Given the description of an element on the screen output the (x, y) to click on. 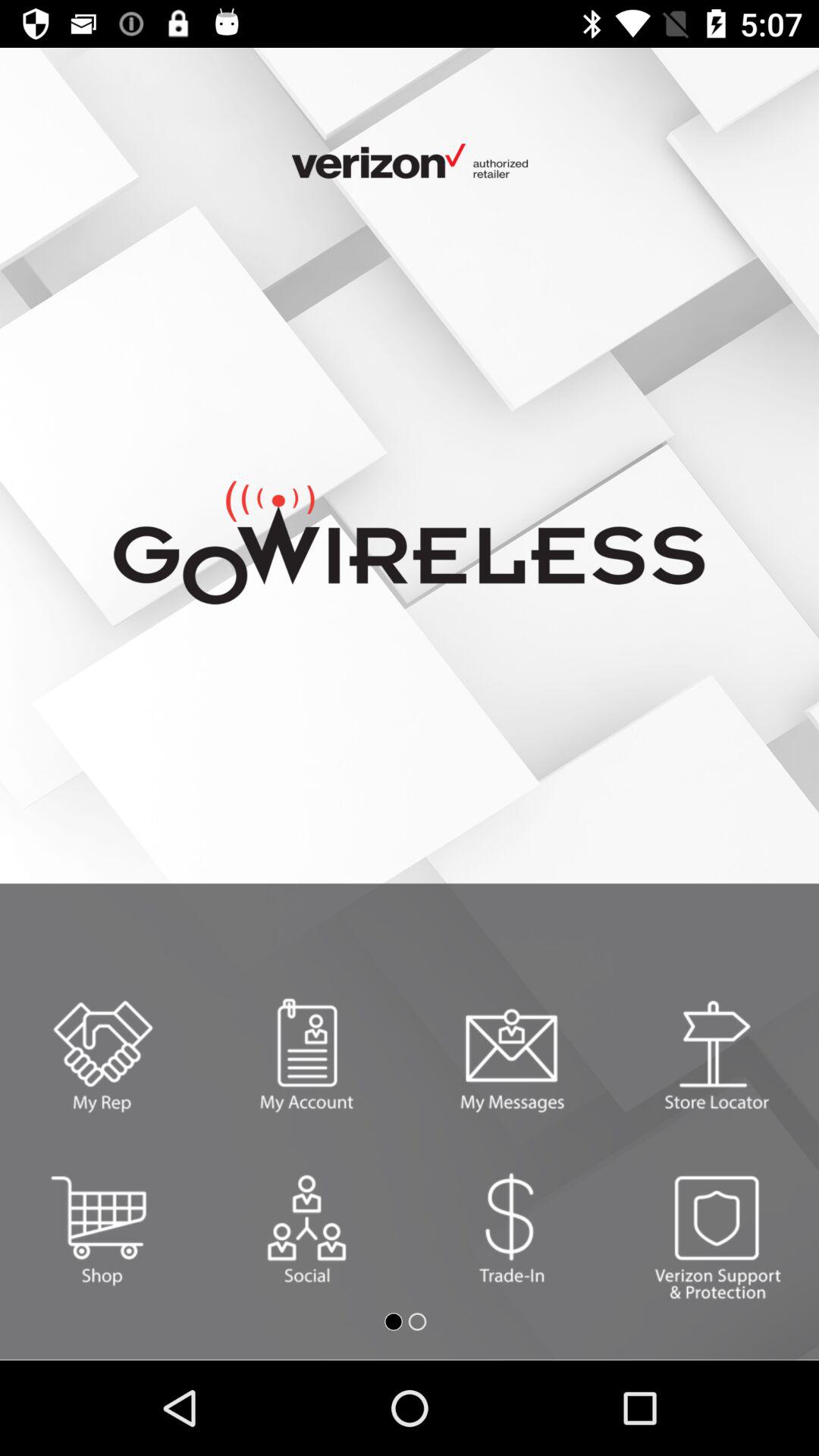
pick shopping options (102, 1228)
